Given the description of an element on the screen output the (x, y) to click on. 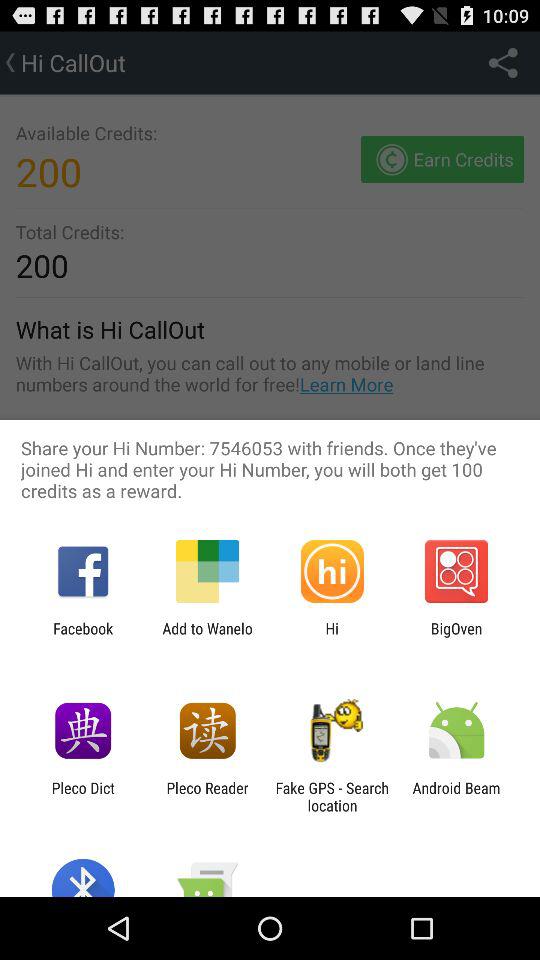
tap app to the left of fake gps search icon (207, 796)
